Given the description of an element on the screen output the (x, y) to click on. 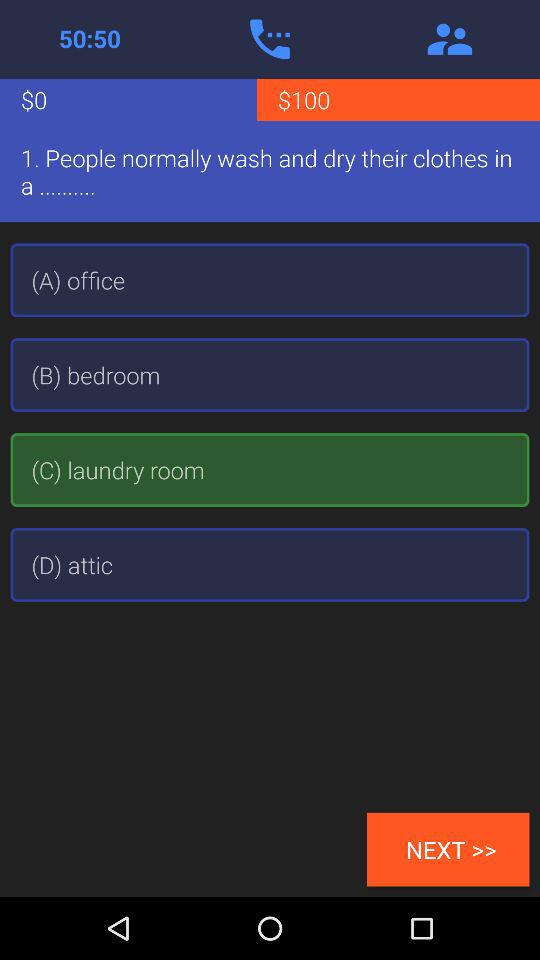
launch the icon above the $0 item (90, 39)
